Given the description of an element on the screen output the (x, y) to click on. 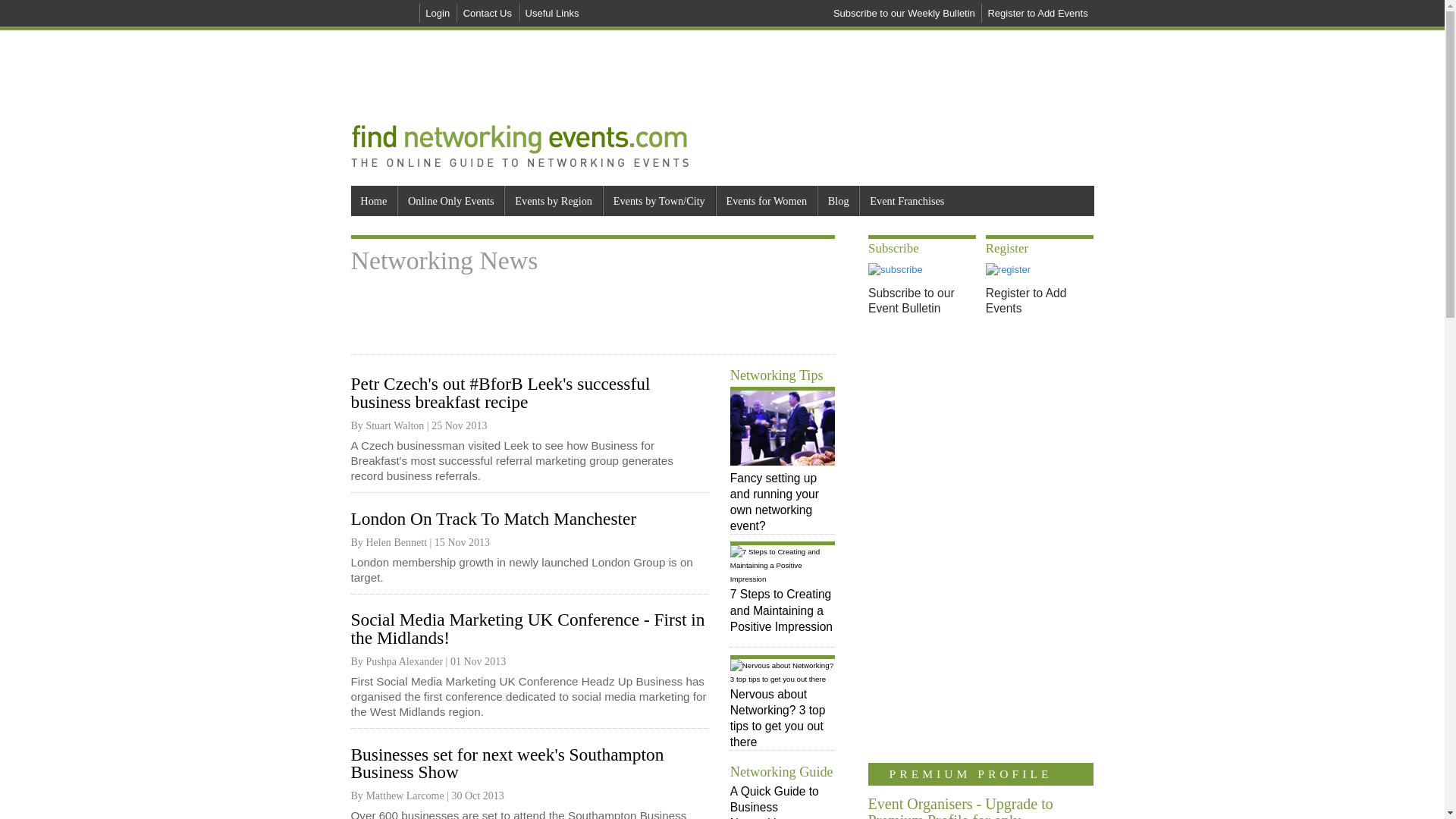
Login (437, 13)
Register to Add Events (1037, 13)
Subscribe to our Weekly Bulletin (904, 13)
Useful Links (552, 13)
Online Only Events (450, 200)
Register to Add Events (1037, 13)
Useful Links (552, 13)
Home (373, 200)
Login (437, 13)
Contact Us (487, 13)
